Given the description of an element on the screen output the (x, y) to click on. 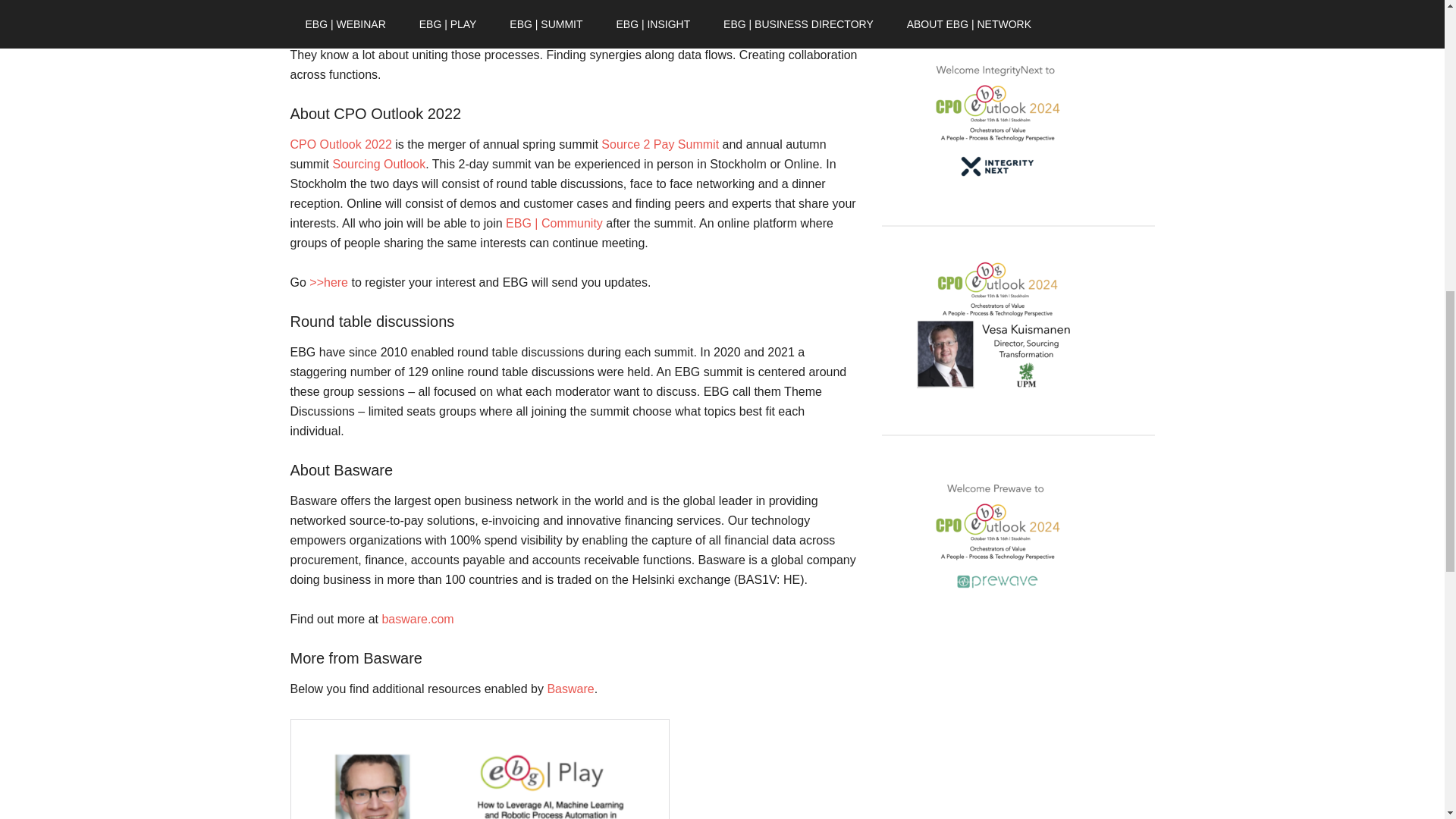
CPO Outlook 2022 (778, 34)
Basware (518, 34)
Sourcing Outlook (378, 164)
Source 2 Pay Summit (660, 144)
basware.com (416, 618)
CPO Outlook 2022 (340, 144)
Basware (570, 688)
